Given the description of an element on the screen output the (x, y) to click on. 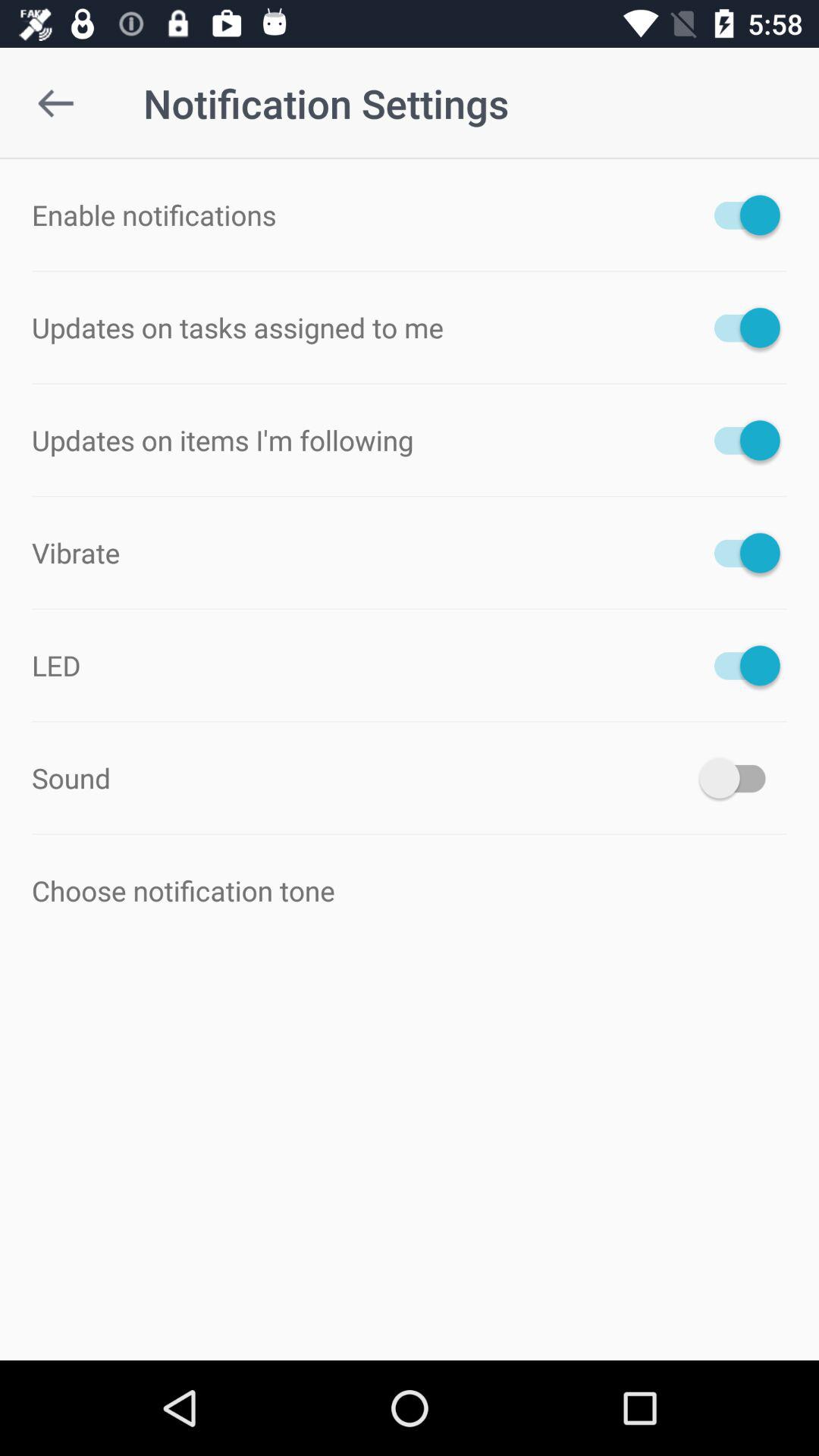
go to no (739, 327)
